Given the description of an element on the screen output the (x, y) to click on. 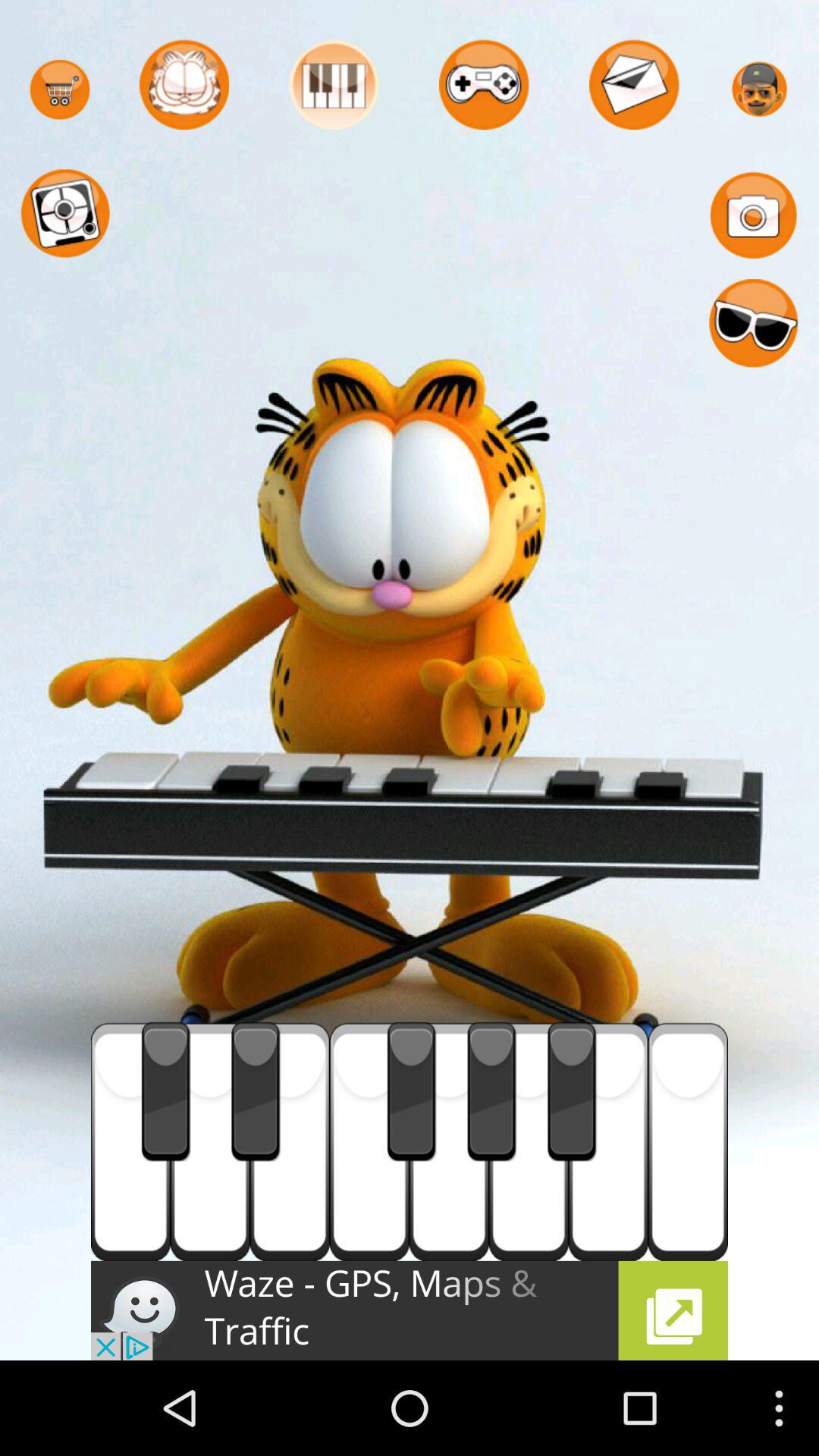
improper tagging (608, 1141)
select the game console icon (483, 84)
click the 6th note in the piano (528, 1141)
select the fifth black key from the keyboard (572, 1091)
click on the first black button which is above waze (165, 1091)
select the third icon in the right side of the page (753, 324)
